Given the description of an element on the screen output the (x, y) to click on. 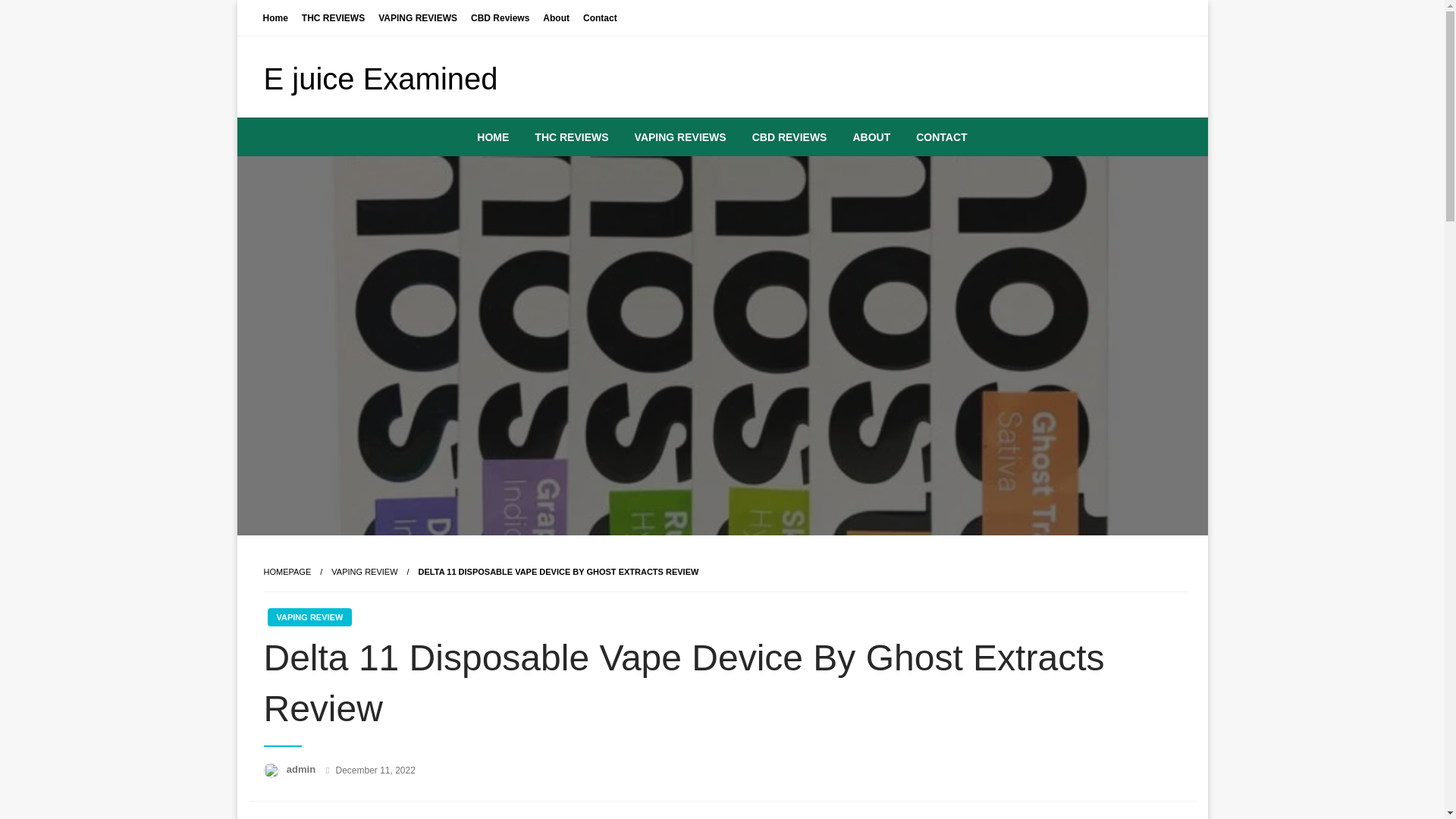
Homepage (287, 571)
Home (275, 17)
E juice Examined (380, 78)
Contact (600, 17)
VAPING REVIEW (364, 571)
Delta 11 Disposable Vape Device By Ghost Extracts Review (558, 571)
HOME (492, 136)
THC REVIEWS (571, 136)
admin (302, 768)
VAPING REVIEWS (417, 17)
ABOUT (871, 136)
CONTACT (940, 136)
HOMEPAGE (287, 571)
CBD REVIEWS (789, 136)
About (555, 17)
